Given the description of an element on the screen output the (x, y) to click on. 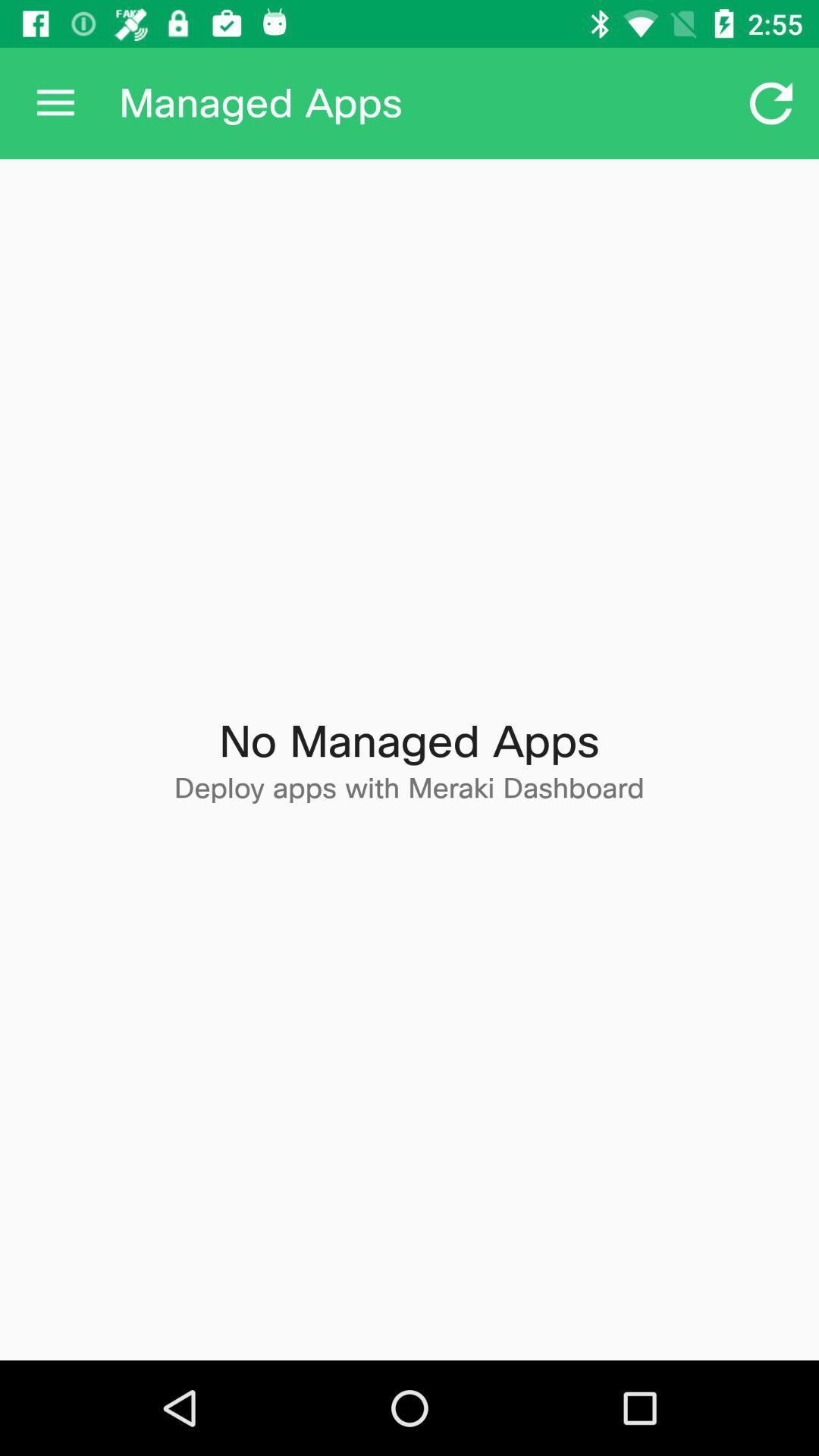
tap app to the right of the managed apps app (771, 103)
